Given the description of an element on the screen output the (x, y) to click on. 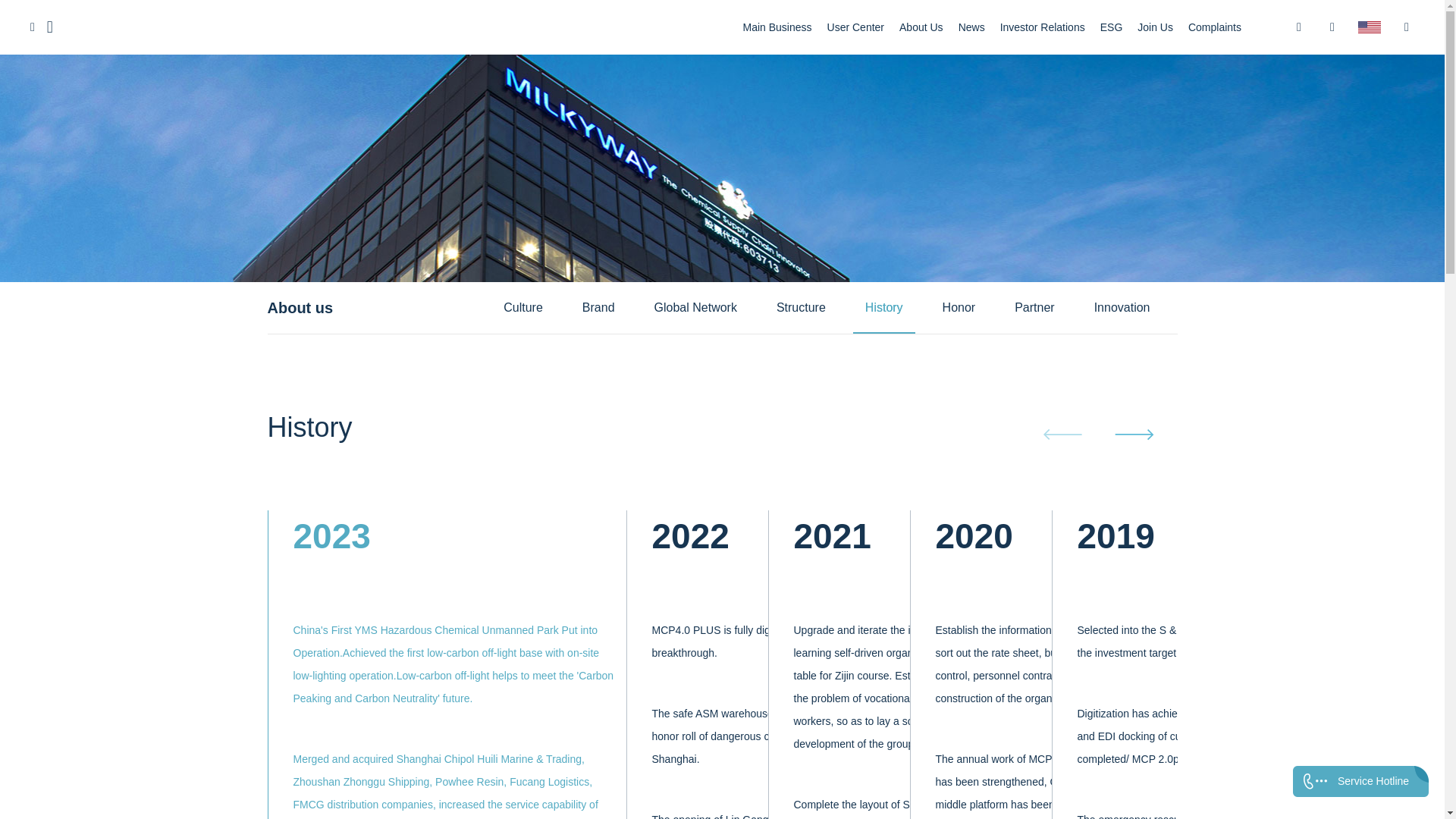
News (971, 27)
Main Business (777, 27)
About Us (921, 27)
Join Us (1155, 27)
User Center (855, 27)
Investor Relations (1042, 27)
ESG (1111, 27)
Complaints (1214, 27)
